Given the description of an element on the screen output the (x, y) to click on. 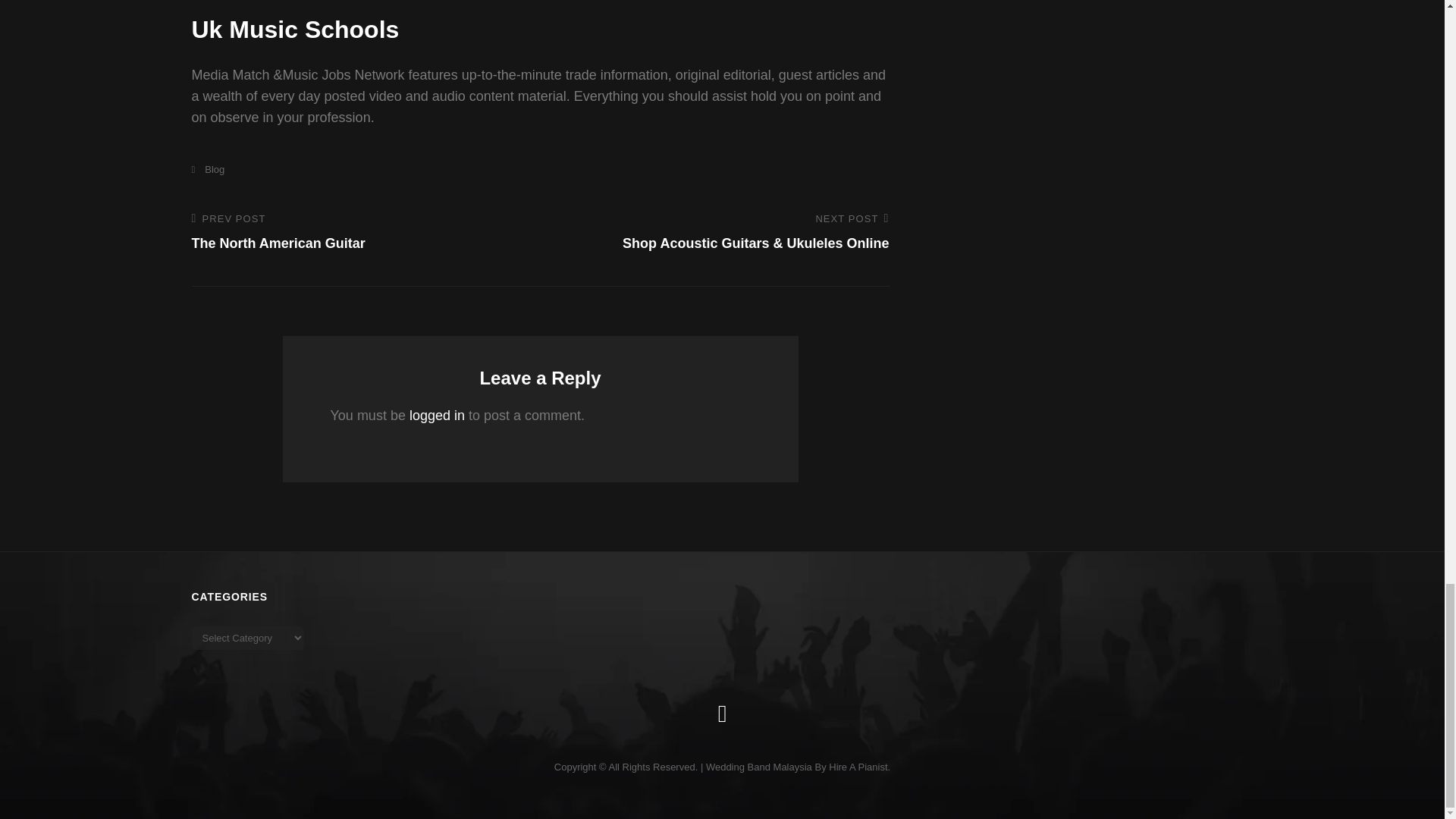
Blog (207, 169)
